Given the description of an element on the screen output the (x, y) to click on. 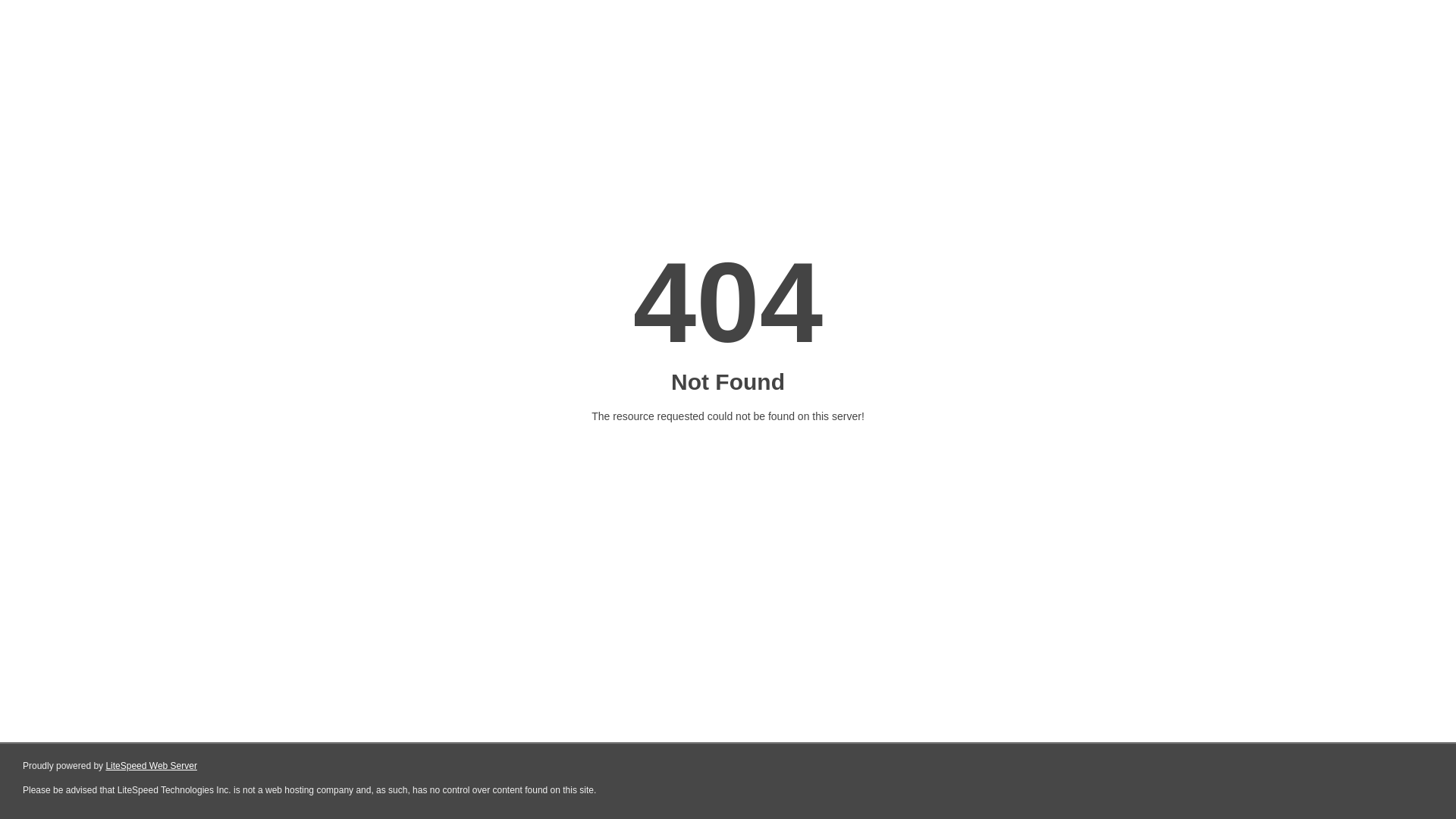
LiteSpeed Web Server Element type: text (151, 765)
